Given the description of an element on the screen output the (x, y) to click on. 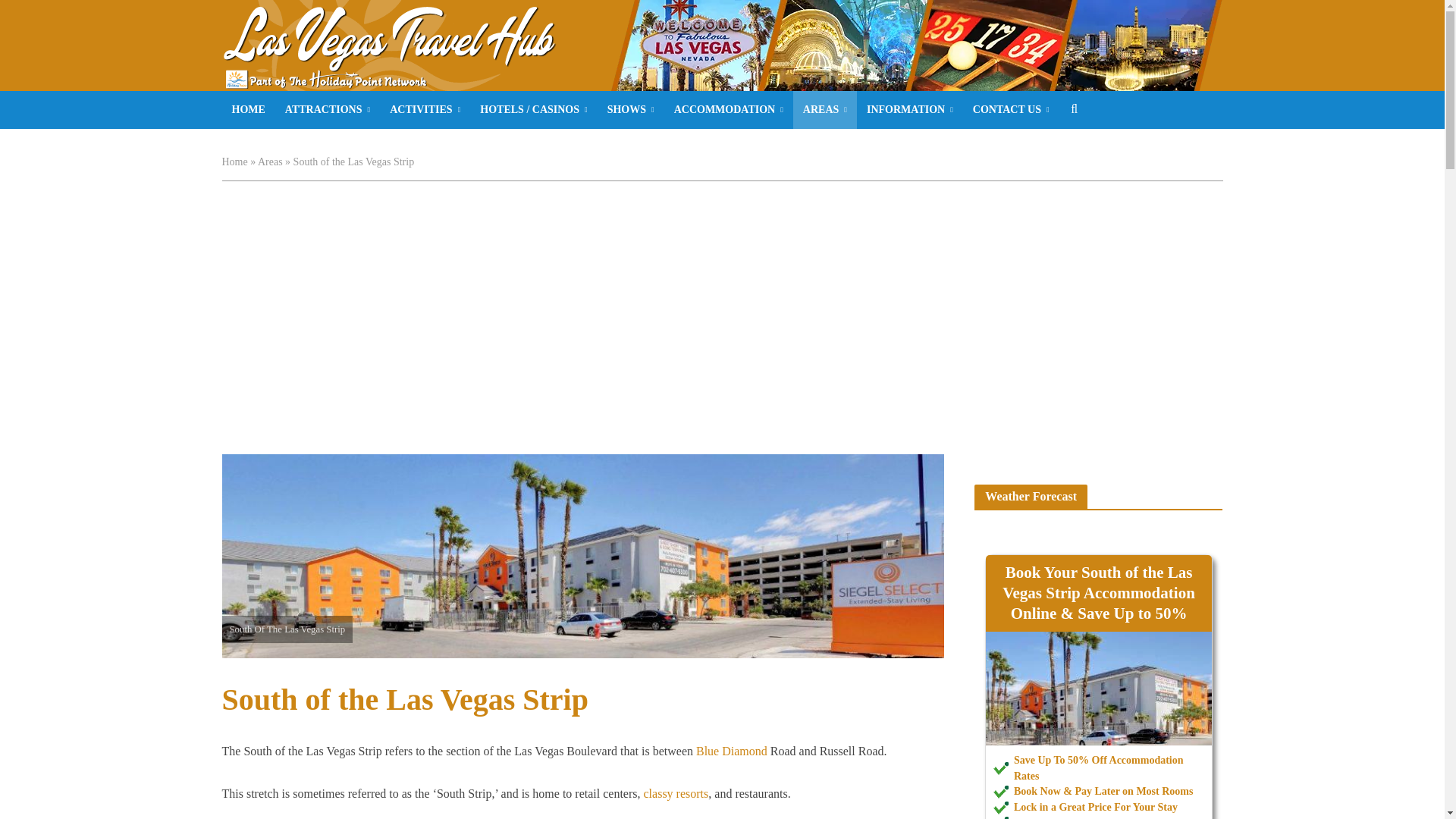
ATTRACTIONS (327, 109)
HOME (248, 109)
